Given the description of an element on the screen output the (x, y) to click on. 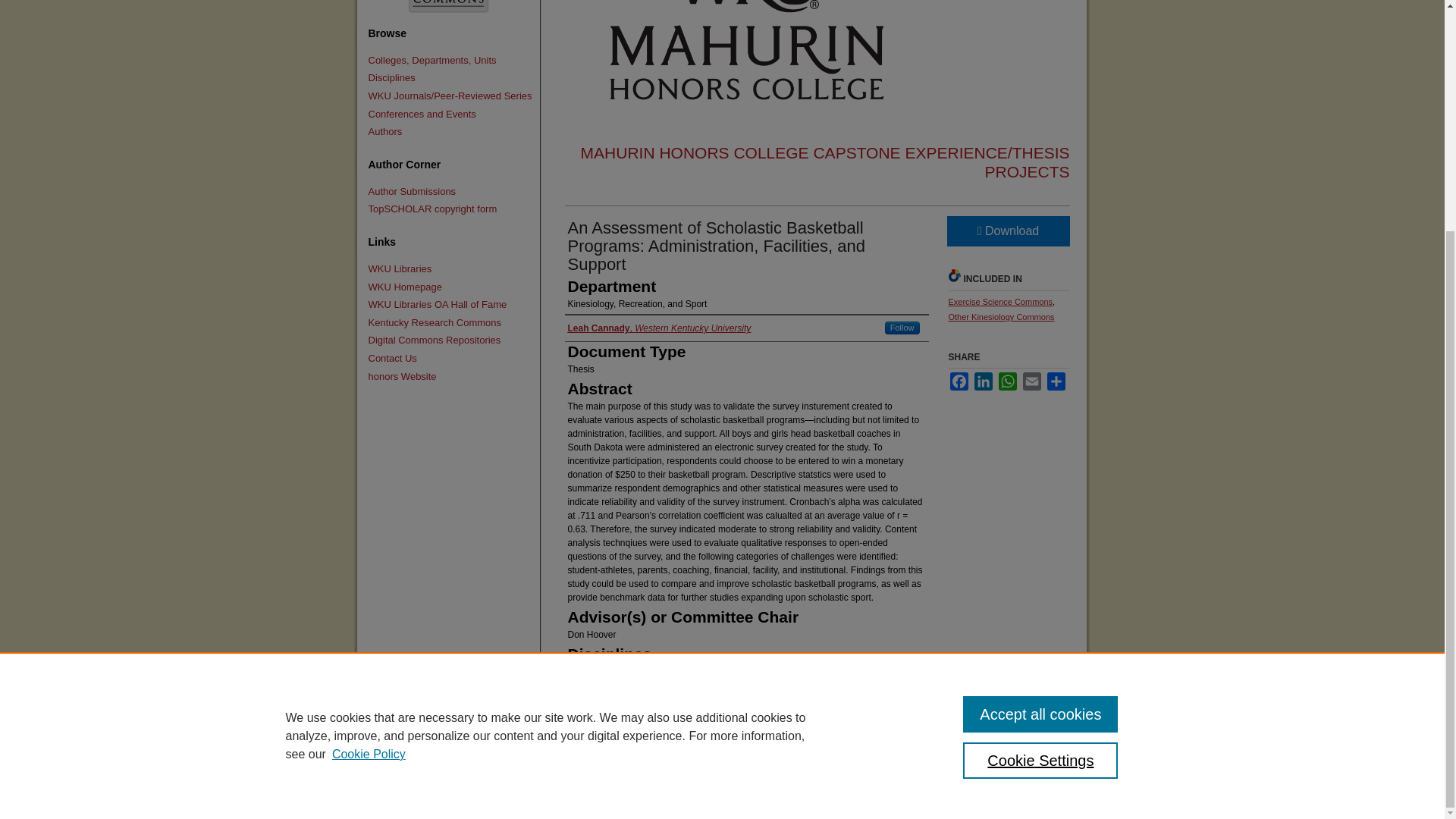
Download (1007, 231)
Colleges, Departments, Units (450, 60)
WhatsApp (1006, 381)
Other Kinesiology Commons (1000, 316)
Disciplines (450, 78)
Leah Cannady, Western Kentucky University (659, 327)
Follow (902, 327)
Undergraduate Research Commons (446, 10)
Other Kinesiology Commons (1000, 316)
Share (1055, 381)
Facebook (958, 381)
Exercise Science Commons (999, 301)
LinkedIn (982, 381)
Email (1031, 381)
